Given the description of an element on the screen output the (x, y) to click on. 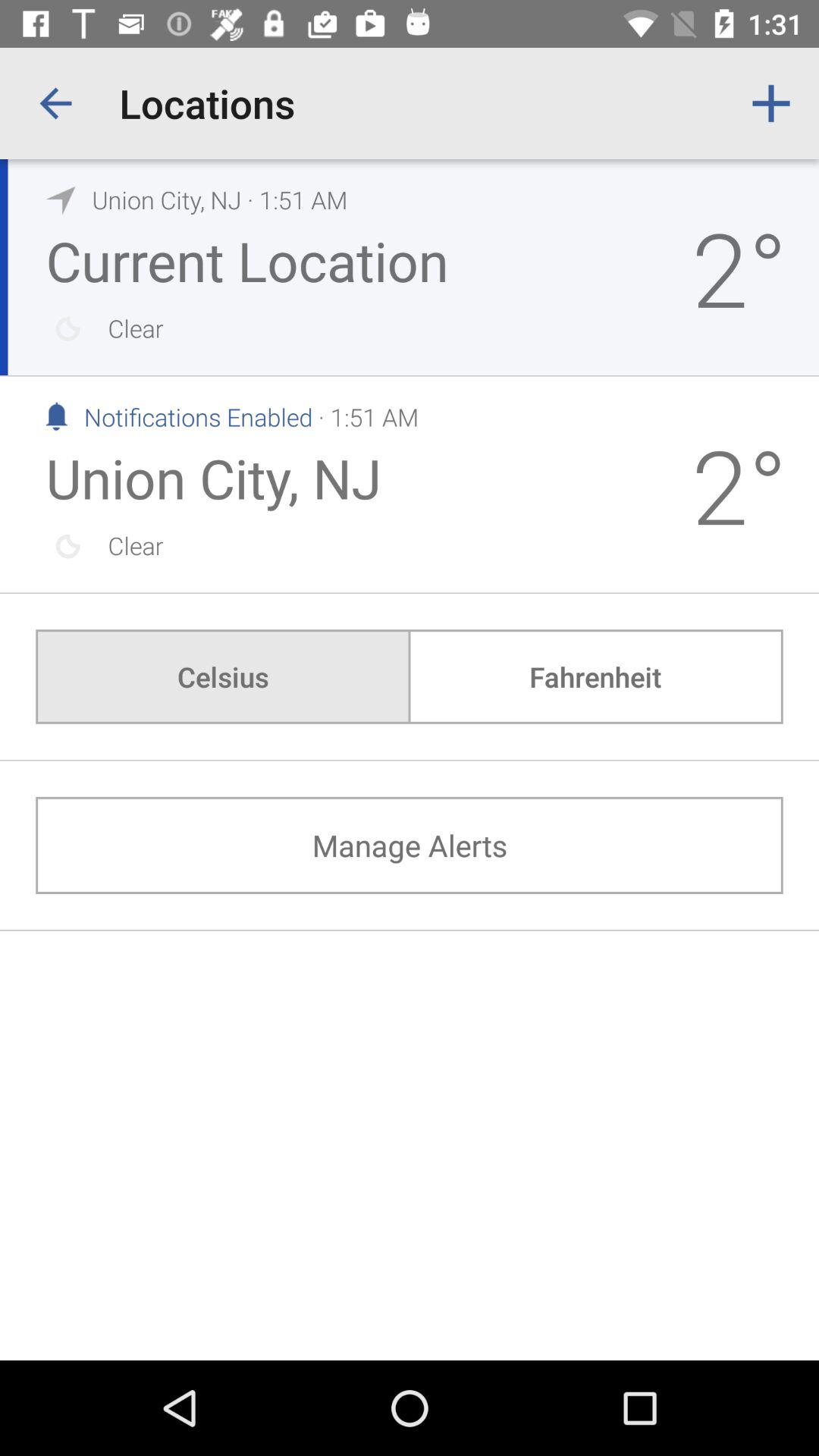
open the icon next to locations icon (55, 103)
